Given the description of an element on the screen output the (x, y) to click on. 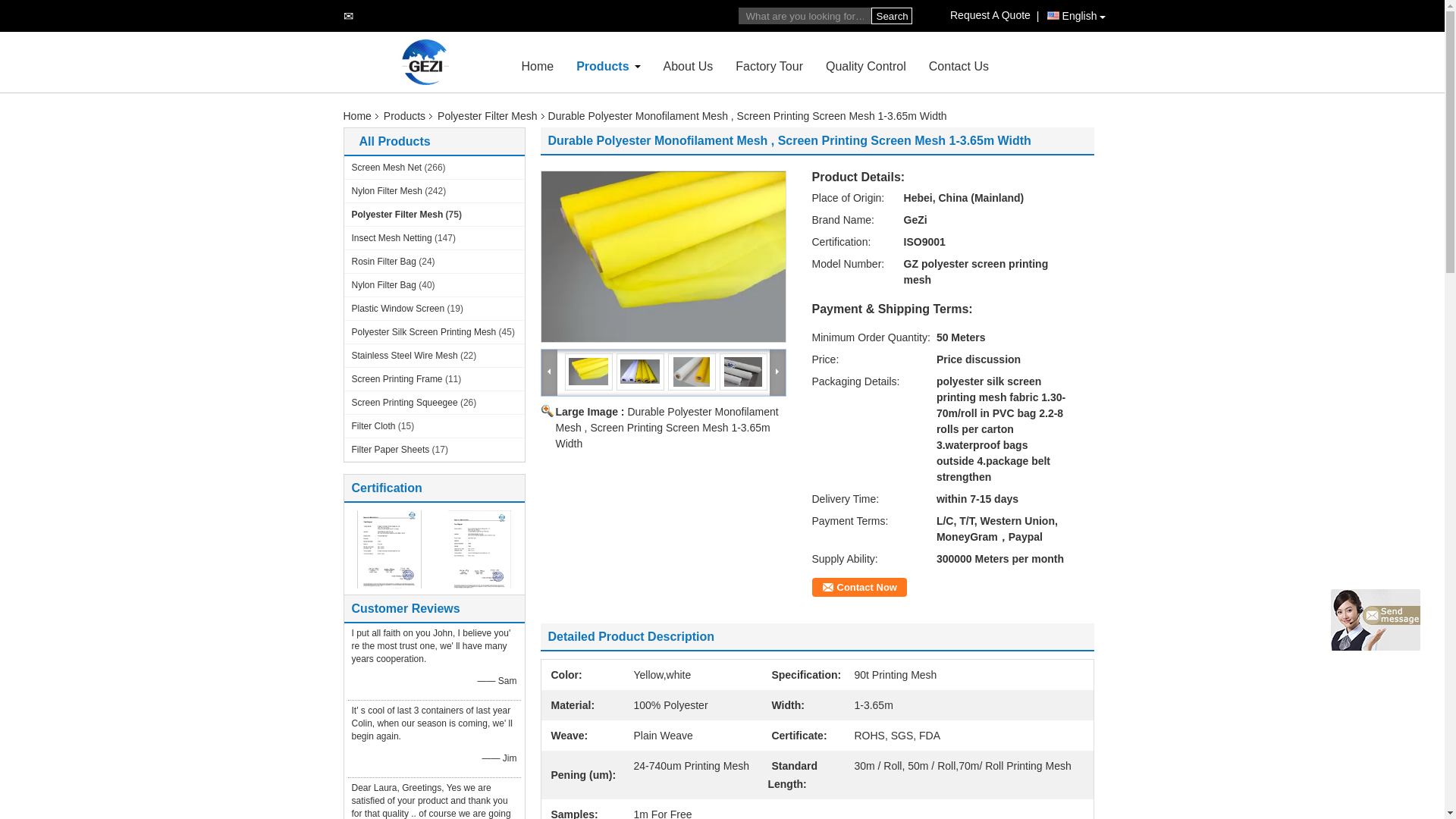
English (1075, 16)
Search (890, 15)
Home (537, 65)
Products (602, 65)
Request A Quote (993, 15)
